Given the description of an element on the screen output the (x, y) to click on. 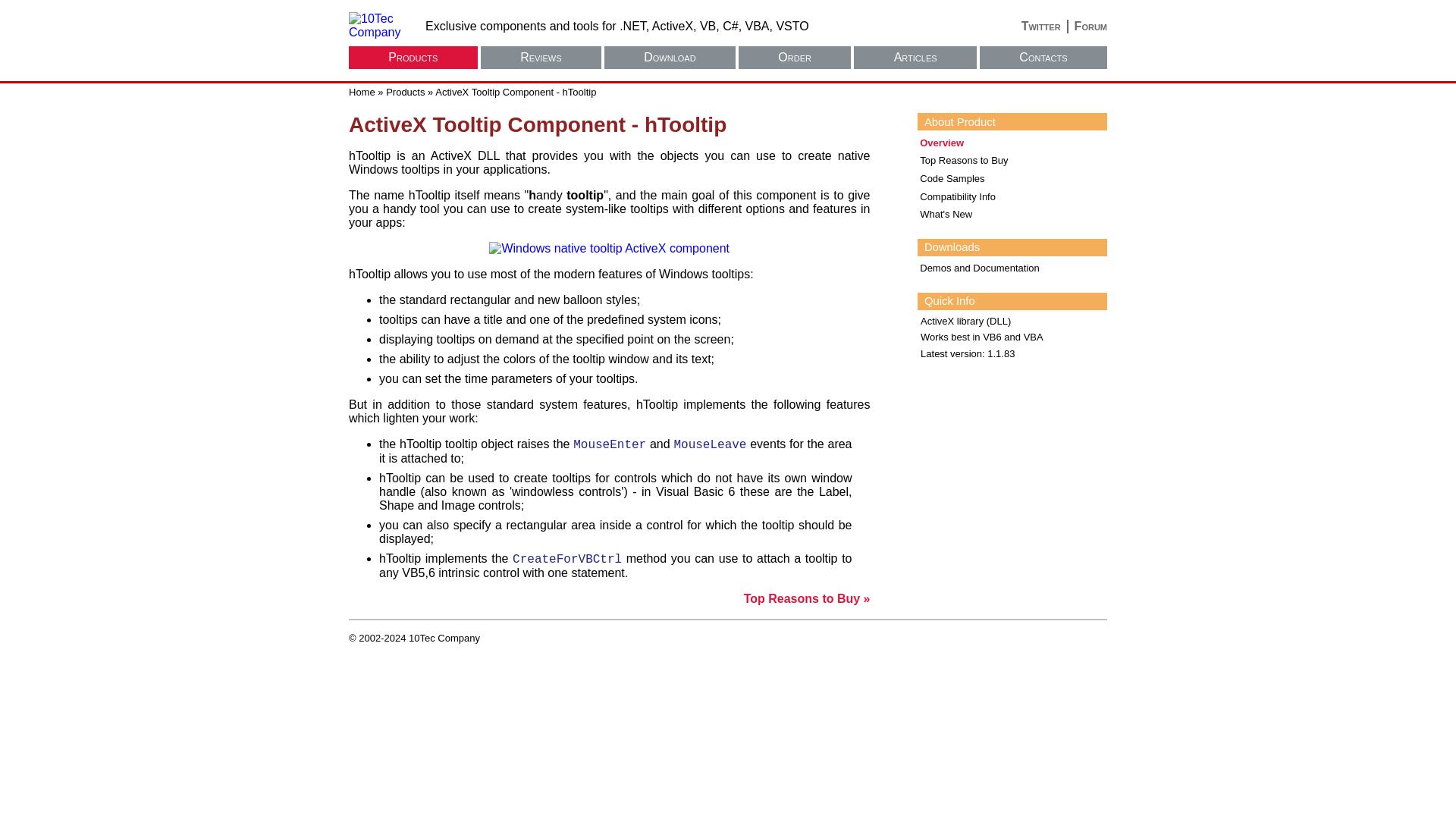
Download (669, 56)
Forum (1087, 26)
10Tec Company (379, 25)
Articles (914, 56)
Code Samples (1011, 178)
What's New (1011, 214)
Home (362, 91)
Windows native tooltip ActiveX component (609, 247)
Products (413, 56)
Contacts (1042, 56)
